Given the description of an element on the screen output the (x, y) to click on. 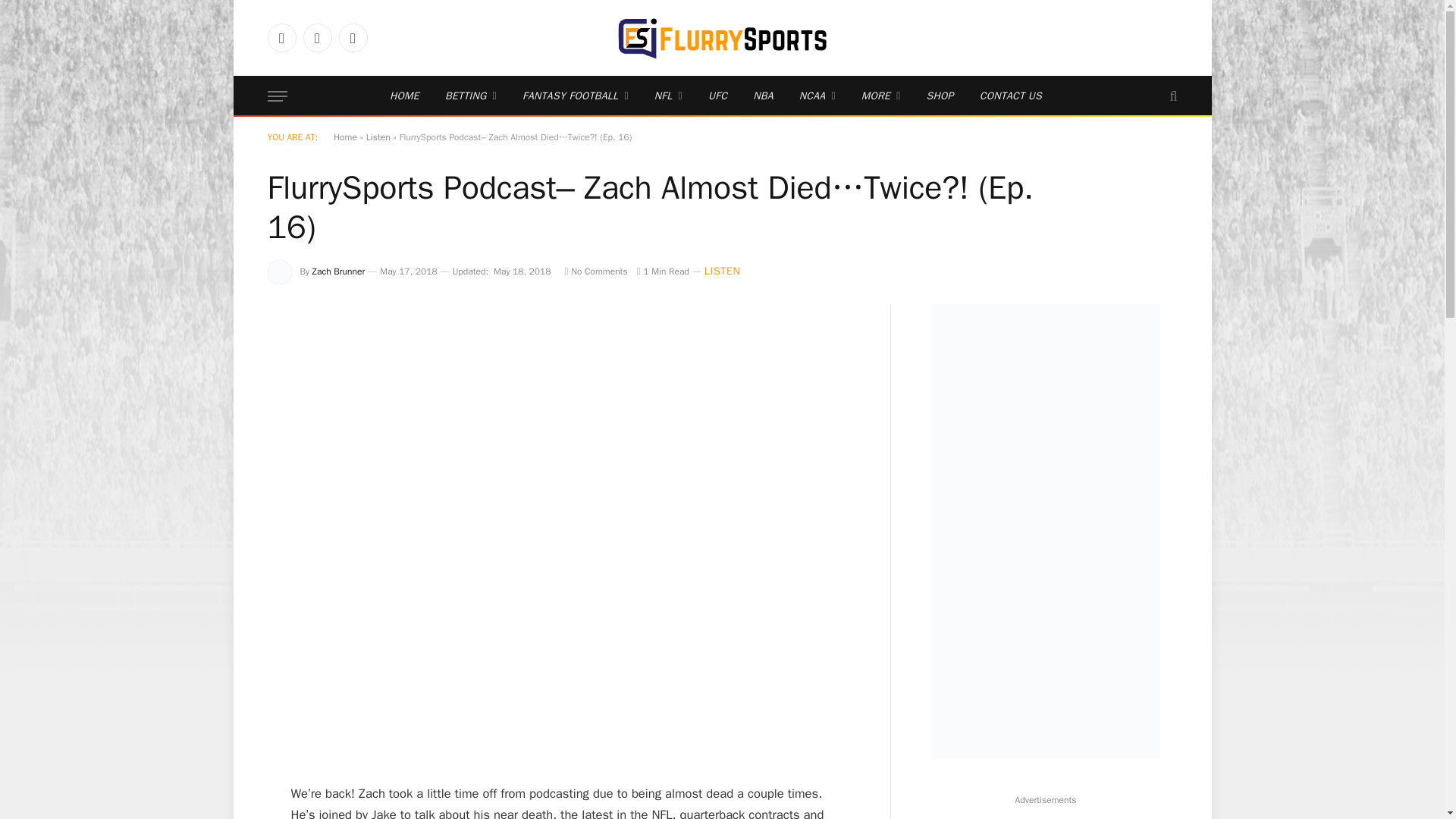
Posts by Zach Brunner (339, 271)
Facebook (280, 37)
BETTING (470, 95)
NFL (668, 95)
CONTACT US (1010, 95)
NBA (762, 95)
NCAA (817, 95)
Instagram (351, 37)
UFC (717, 95)
HOME (404, 95)
